Given the description of an element on the screen output the (x, y) to click on. 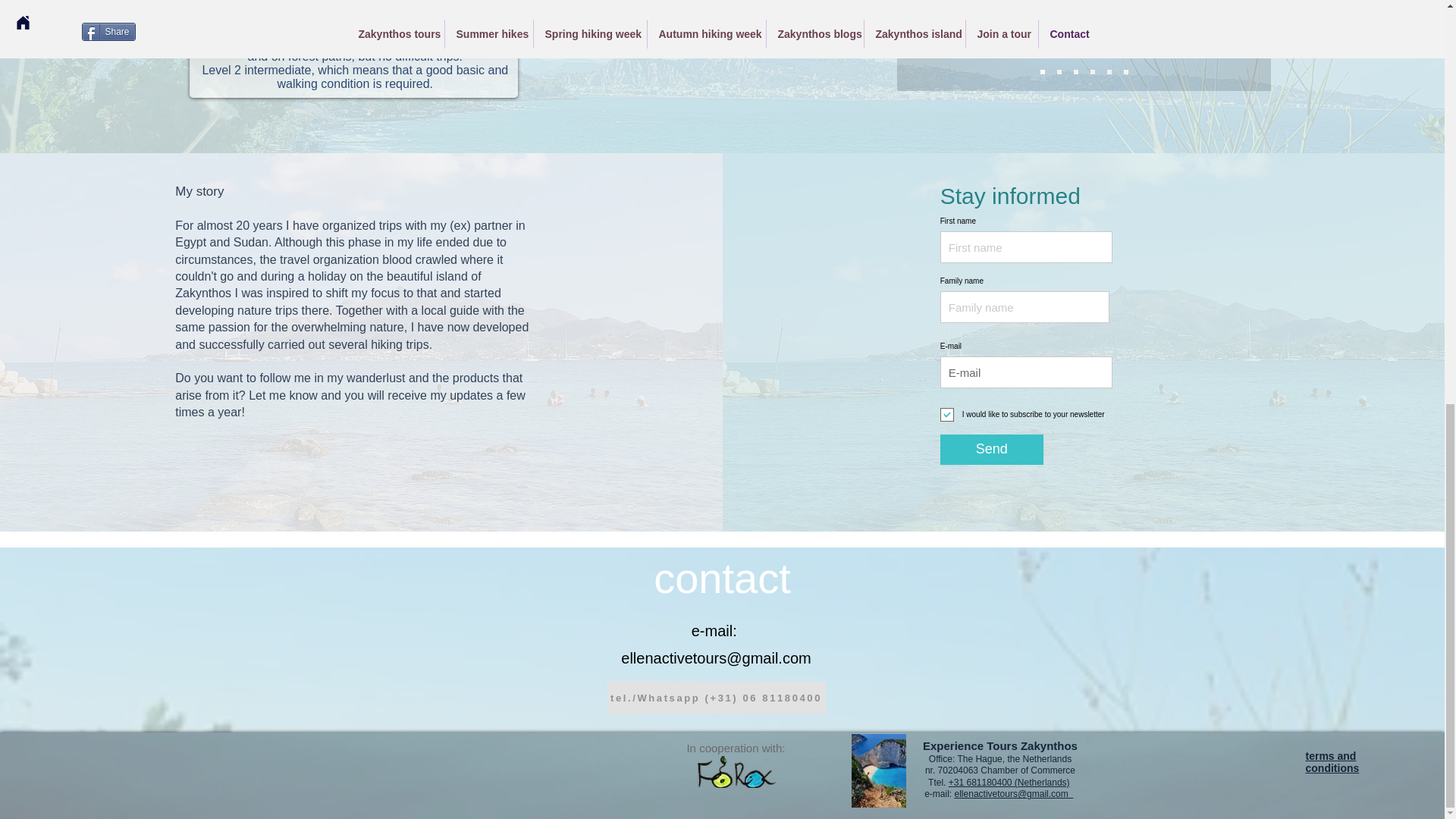
in cooperation with (735, 771)
terms and conditions (1332, 761)
Book this tour (297, 5)
Send (991, 449)
